Given the description of an element on the screen output the (x, y) to click on. 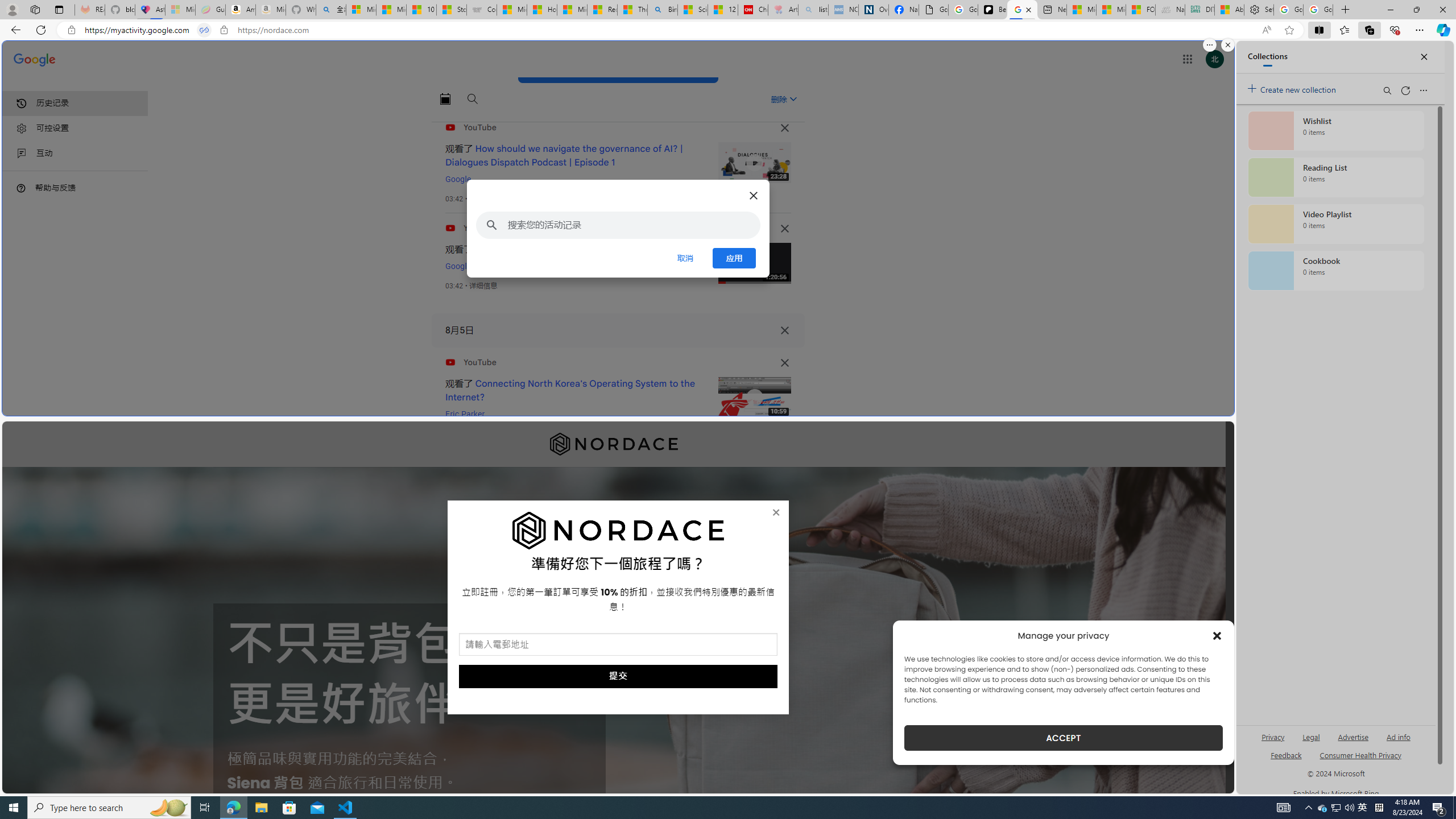
Class: TjcpUd NMm5M (784, 362)
Close split screen. (1227, 45)
Arthritis: Ask Health Professionals - Sleeping (782, 9)
AutomationID: input_5_1 (617, 644)
